Given the description of an element on the screen output the (x, y) to click on. 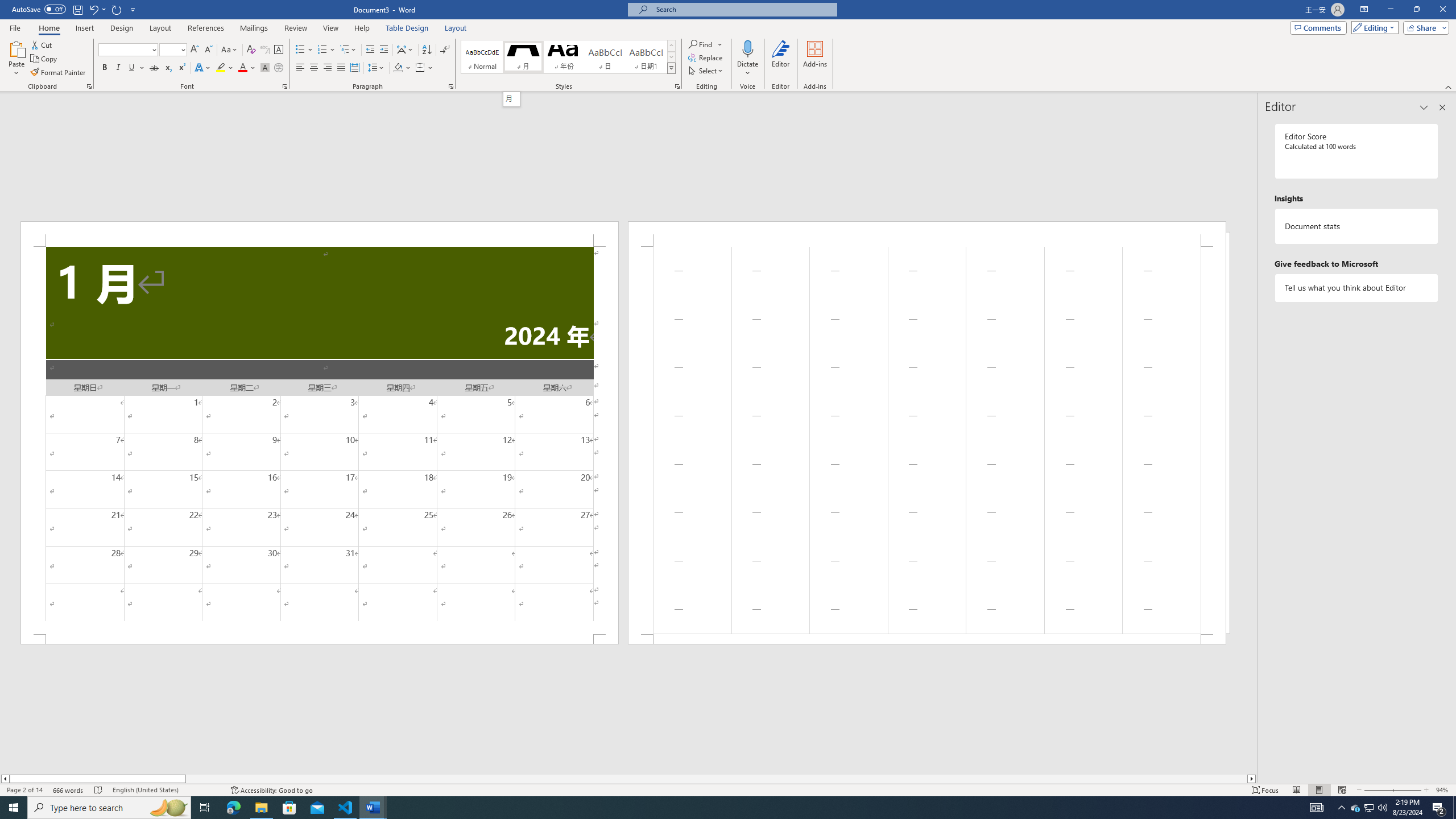
Strikethrough (154, 67)
Clear Formatting (250, 49)
Asian Layout (405, 49)
Page 1 content (319, 439)
Font... (285, 85)
Tell us what you think about Editor (1356, 288)
Line and Paragraph Spacing (376, 67)
Grow Font (193, 49)
Italic (118, 67)
Header -Section 1- (926, 233)
